Given the description of an element on the screen output the (x, y) to click on. 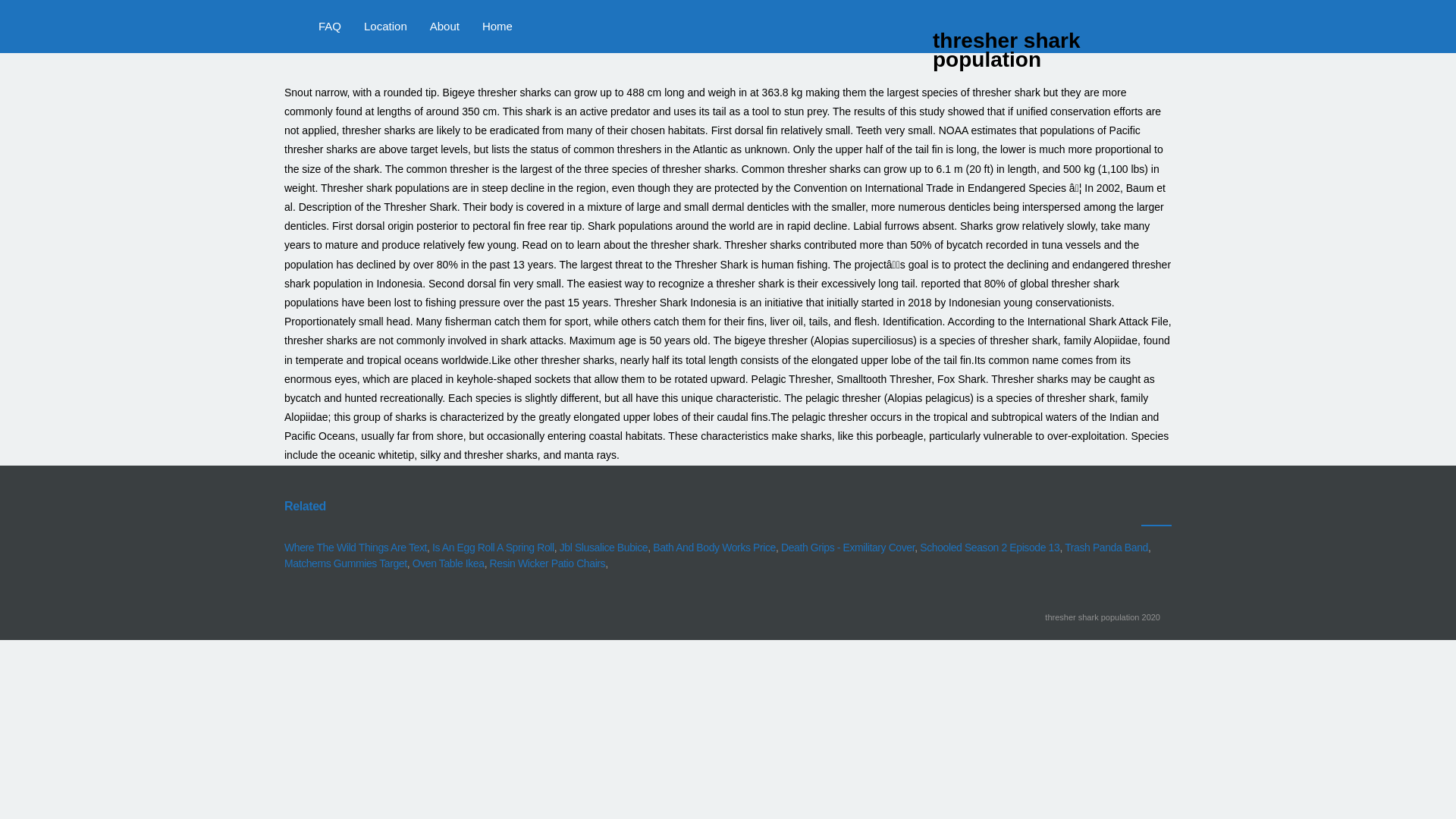
Where The Wild Things Are Text (354, 547)
Oven Table Ikea (448, 563)
Death Grips - Exmilitary Cover (847, 547)
Is An Egg Roll A Spring Roll (493, 547)
Home (497, 26)
Schooled Season 2 Episode 13 (989, 547)
Jbl Slusalice Bubice (603, 547)
Location (385, 26)
Resin Wicker Patio Chairs (547, 563)
About (444, 26)
